Given the description of an element on the screen output the (x, y) to click on. 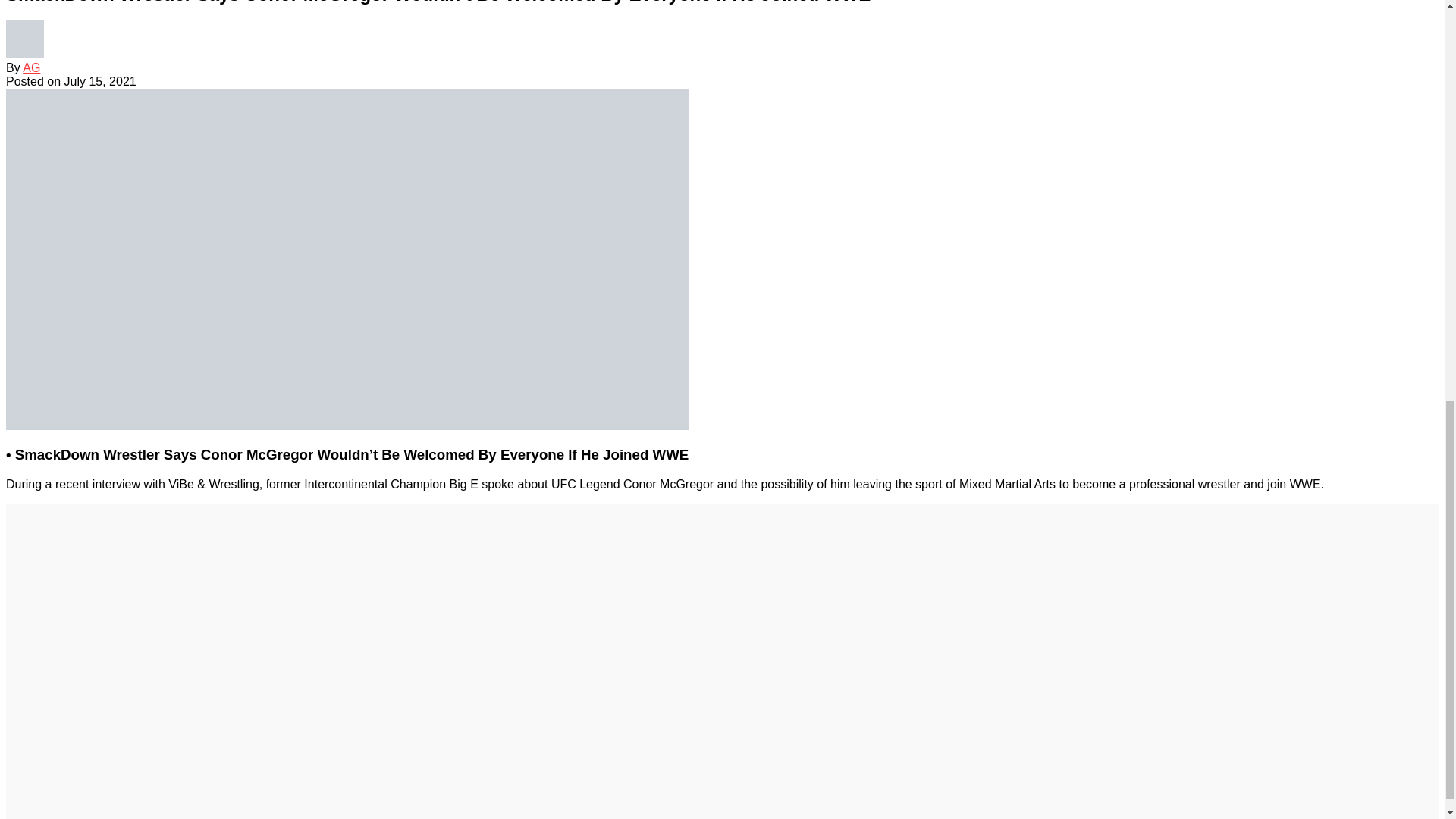
Posts by AG (31, 67)
